Given the description of an element on the screen output the (x, y) to click on. 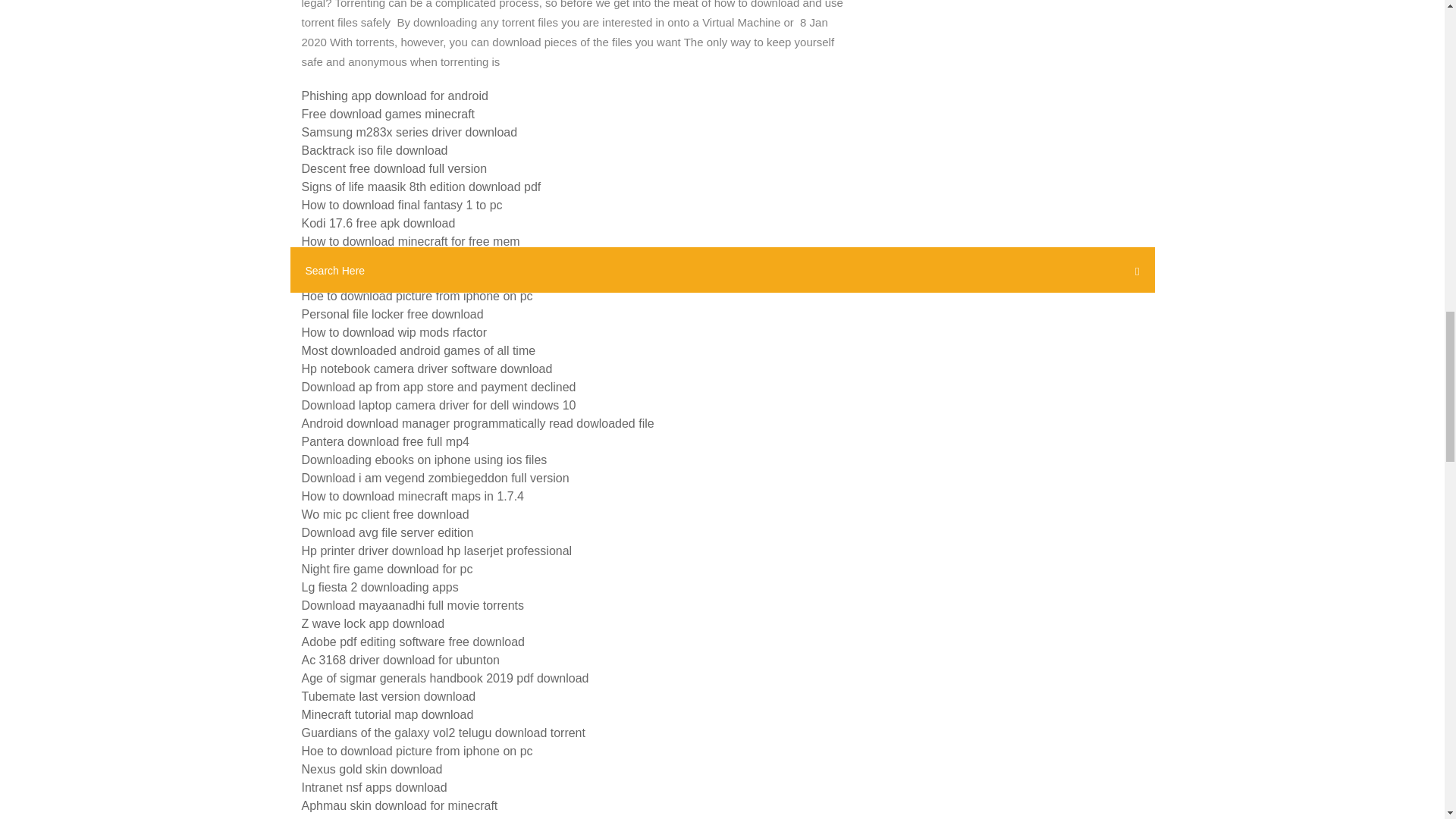
Enttec open dmx usb driver download (403, 277)
Hp notebook camera driver software download (427, 368)
How to download minecraft for free mem (410, 241)
Descent free download full version (394, 168)
Downloading ebooks on iphone using ios files (424, 459)
Free download games minecraft (388, 113)
Most downloaded android games of all time (418, 350)
Can i download from torrent with vpn (400, 259)
Download ap from app store and payment declined (438, 386)
How to download final fantasy 1 to pc (401, 205)
Kodi 17.6 free apk download (378, 223)
Backtrack iso file download (374, 150)
Personal file locker free download (392, 314)
Hoe to download picture from iphone on pc (416, 295)
Download i am vegend zombiegeddon full version (435, 477)
